Given the description of an element on the screen output the (x, y) to click on. 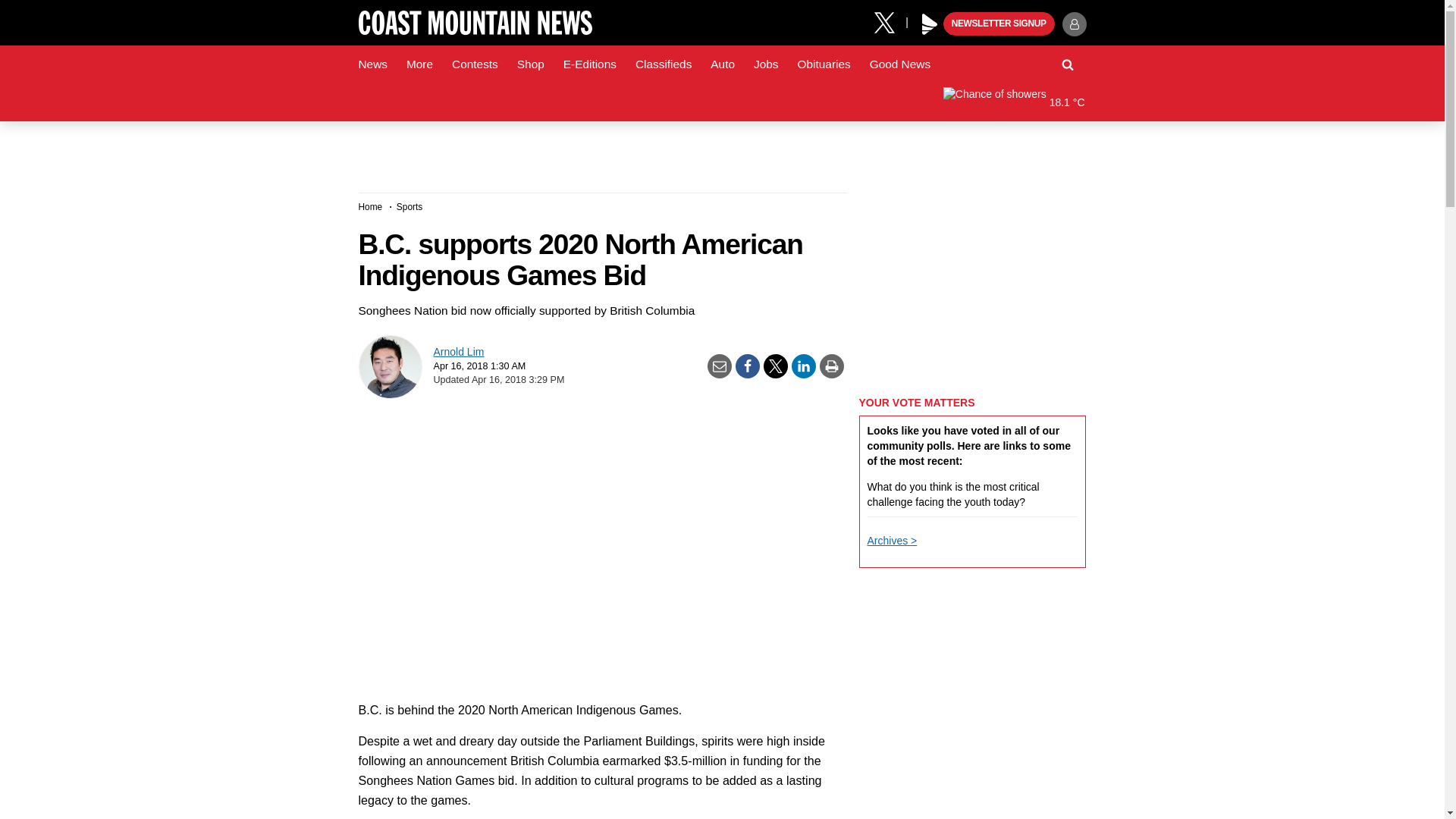
Black Press Media (929, 24)
News (372, 64)
Play (929, 24)
X (889, 21)
NEWSLETTER SIGNUP (998, 24)
